Given the description of an element on the screen output the (x, y) to click on. 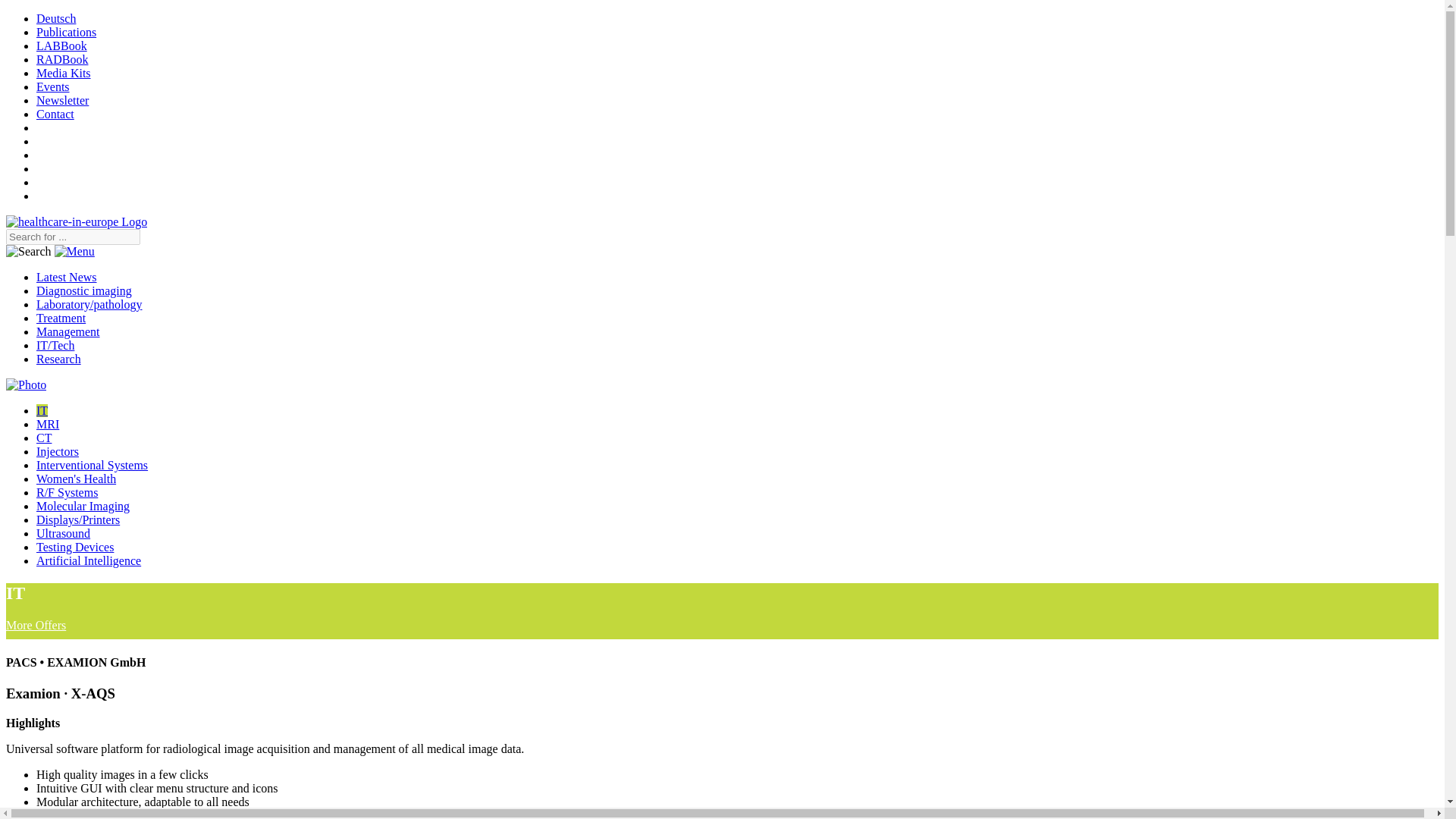
Injectors (57, 451)
Newsletter (62, 100)
Molecular Imaging (82, 505)
Publications (66, 31)
RADBook (61, 59)
Diagnostic imaging (84, 290)
Contact (55, 113)
Latest News (66, 277)
Deutsch (55, 18)
More Offers (35, 625)
CT (43, 437)
MRI (47, 423)
Women's Health (76, 478)
Treatment (60, 318)
Media Kits (63, 72)
